Given the description of an element on the screen output the (x, y) to click on. 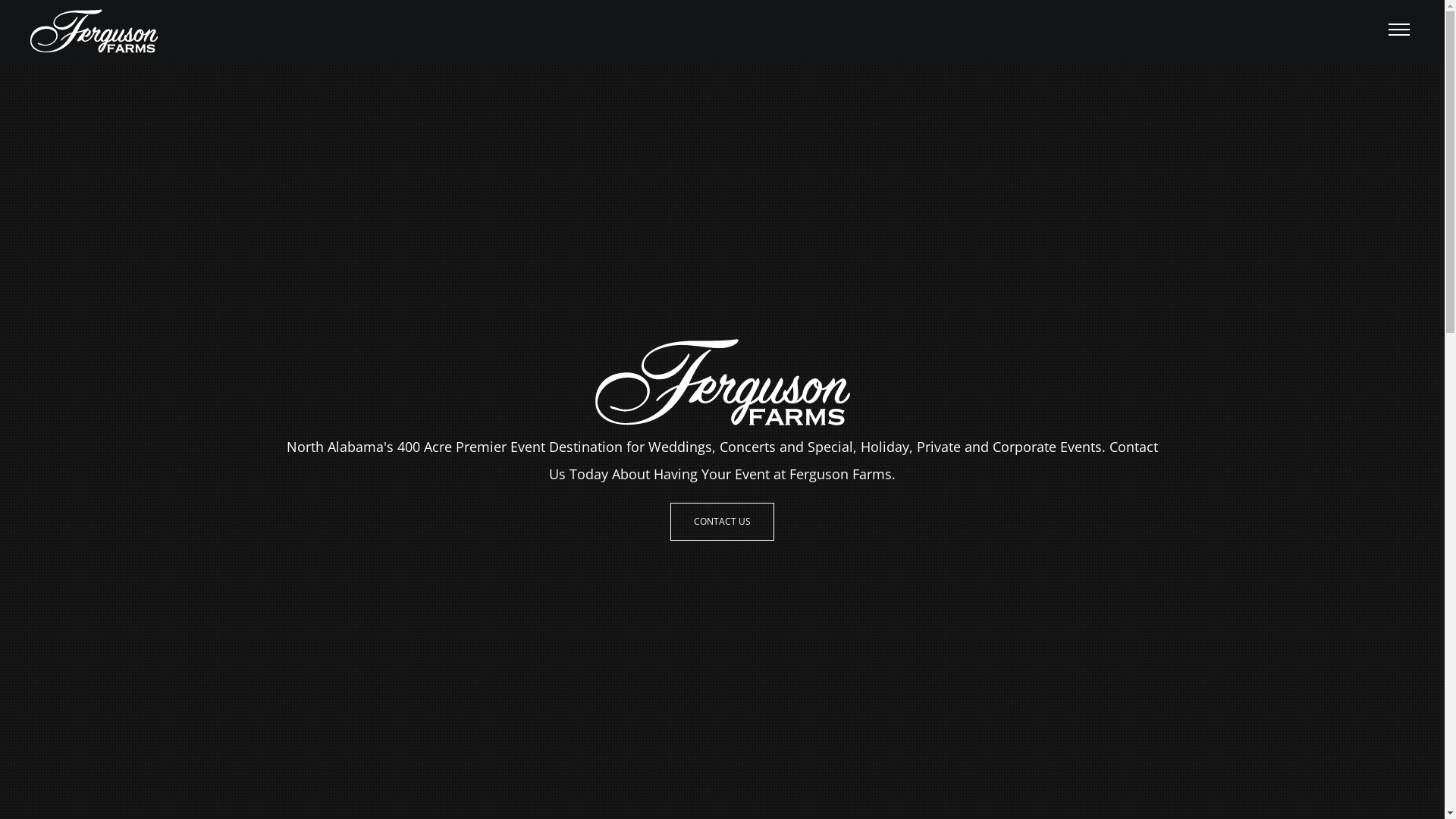
CONTACT US Element type: text (722, 521)
